Given the description of an element on the screen output the (x, y) to click on. 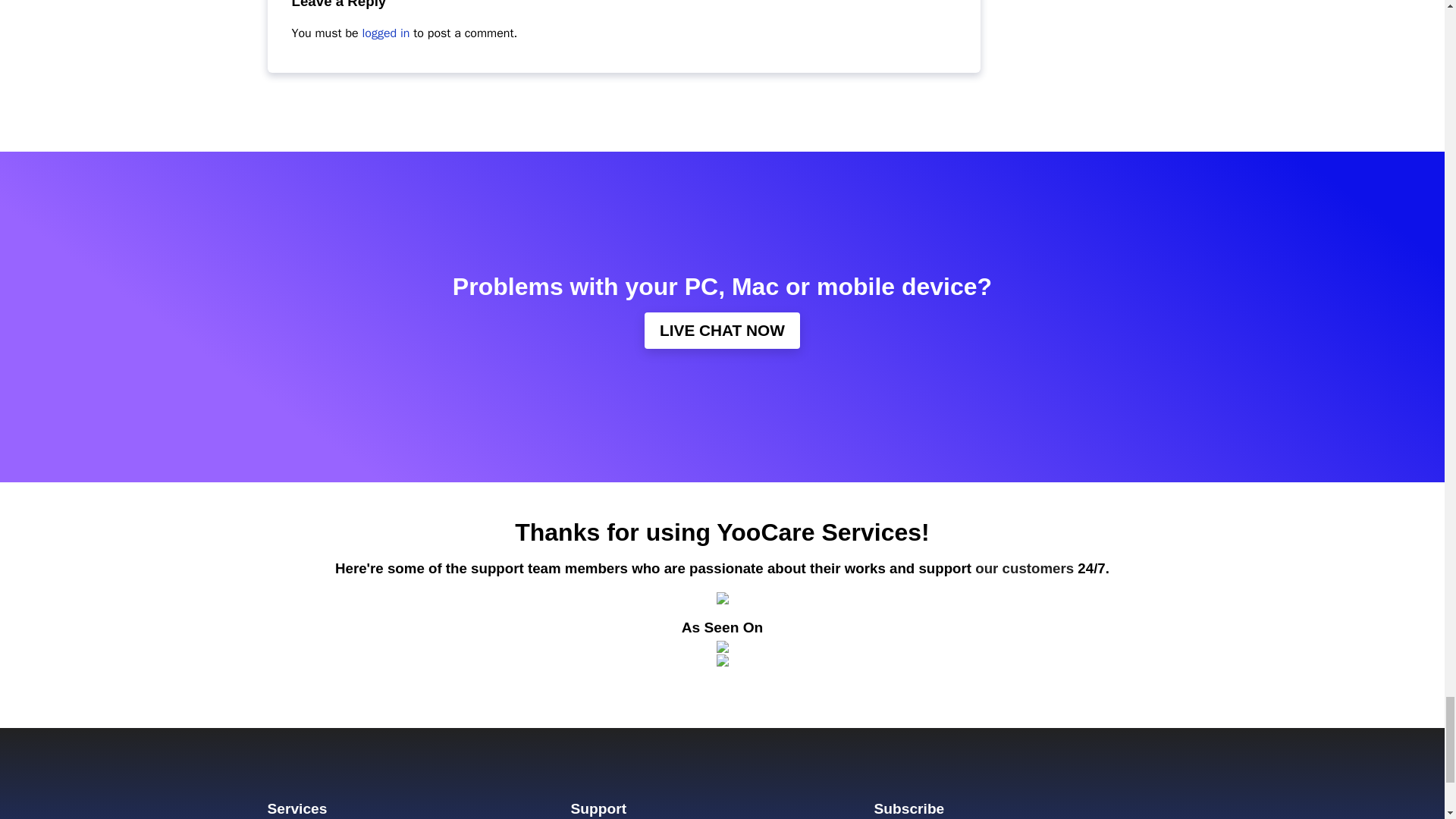
our customers (1024, 568)
logged in (386, 32)
LIVE CHAT NOW (722, 330)
